Given the description of an element on the screen output the (x, y) to click on. 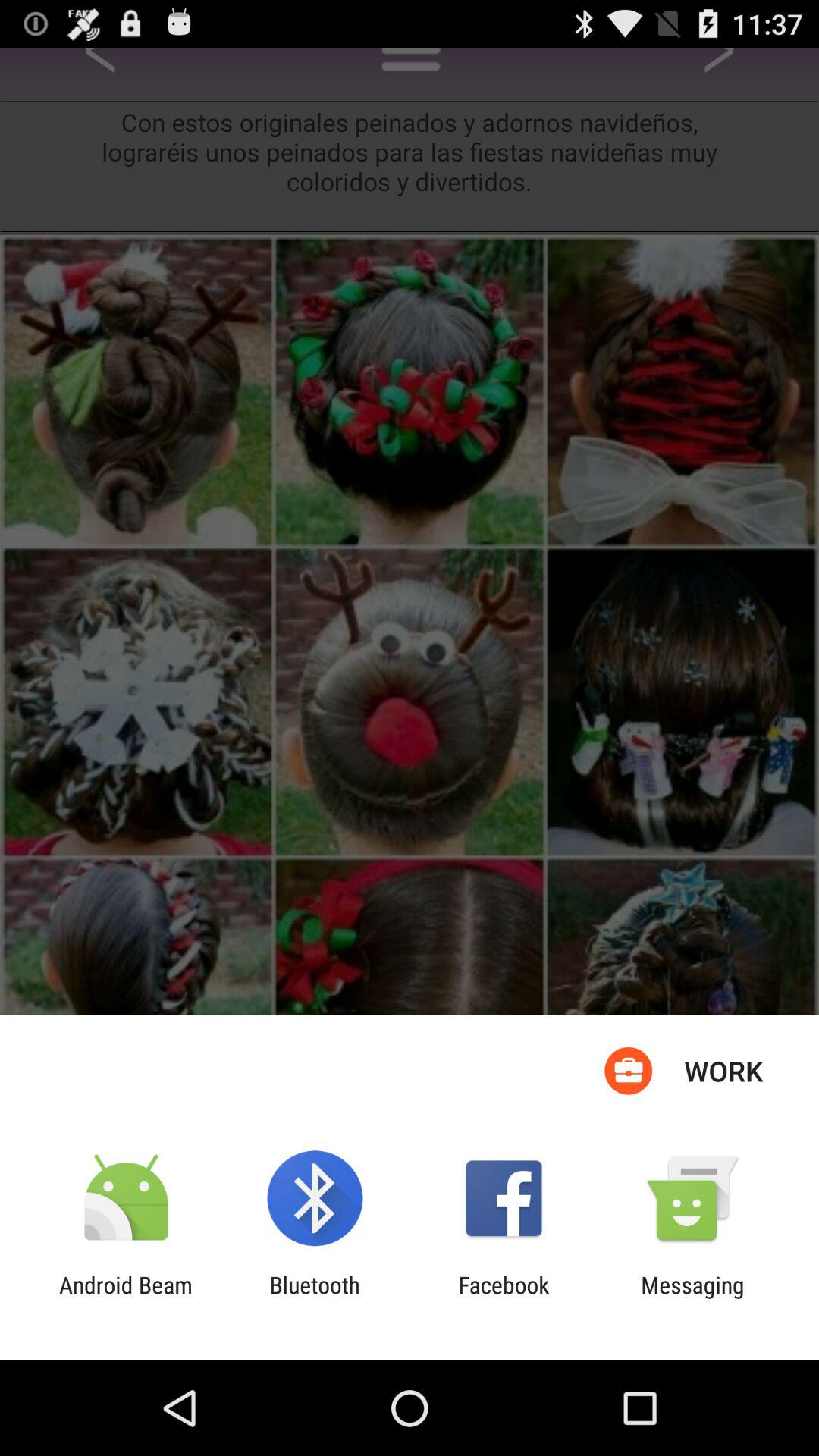
tap item to the left of the bluetooth item (125, 1298)
